Given the description of an element on the screen output the (x, y) to click on. 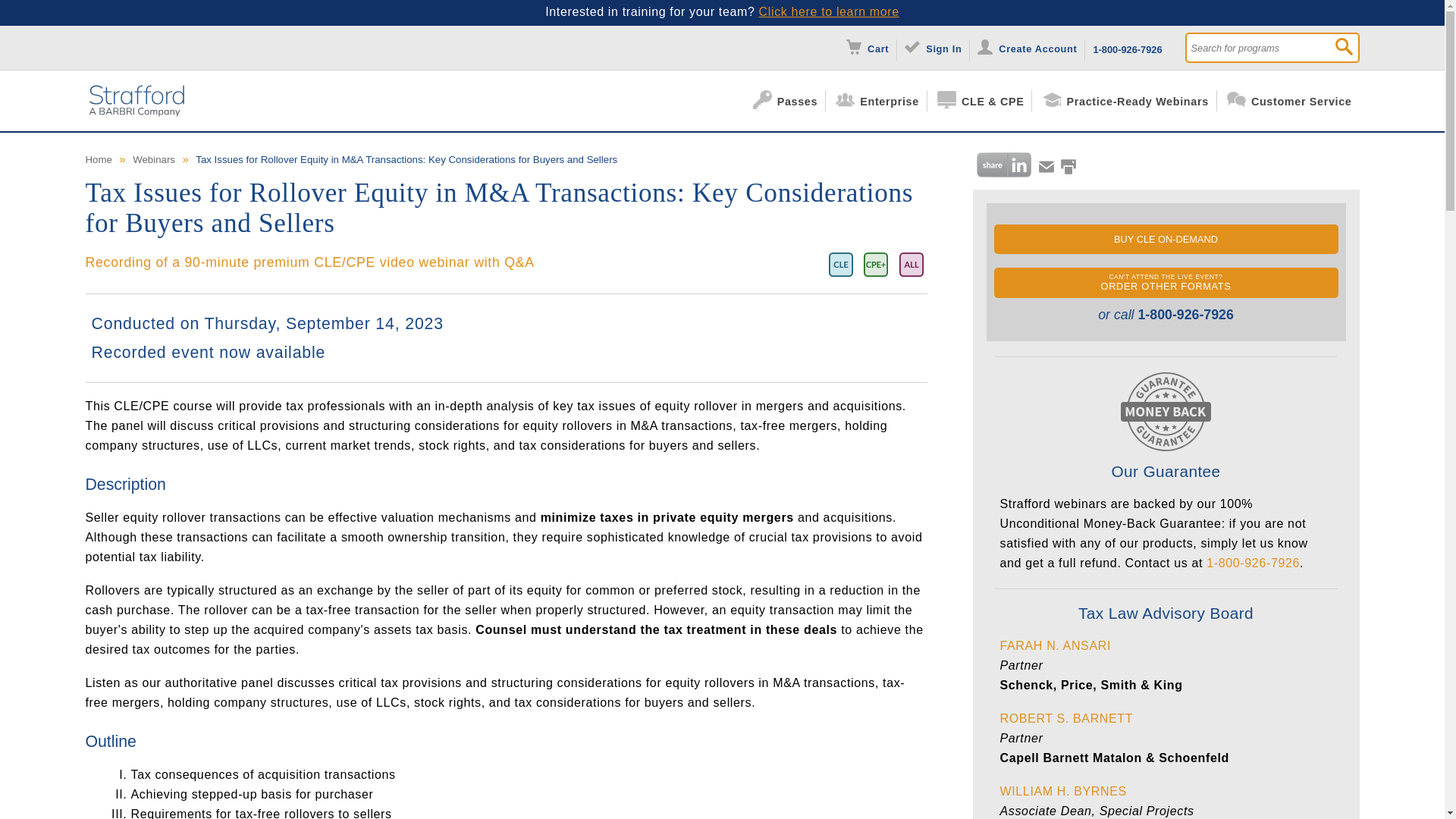
Buy CLE On-Demand (1165, 238)
Passes (788, 100)
Sign In (936, 46)
Click here to learn more (828, 11)
Create Account (1030, 46)
1-800-926-7926 (1126, 47)
Enterprise (880, 100)
Cart (870, 46)
